Given the description of an element on the screen output the (x, y) to click on. 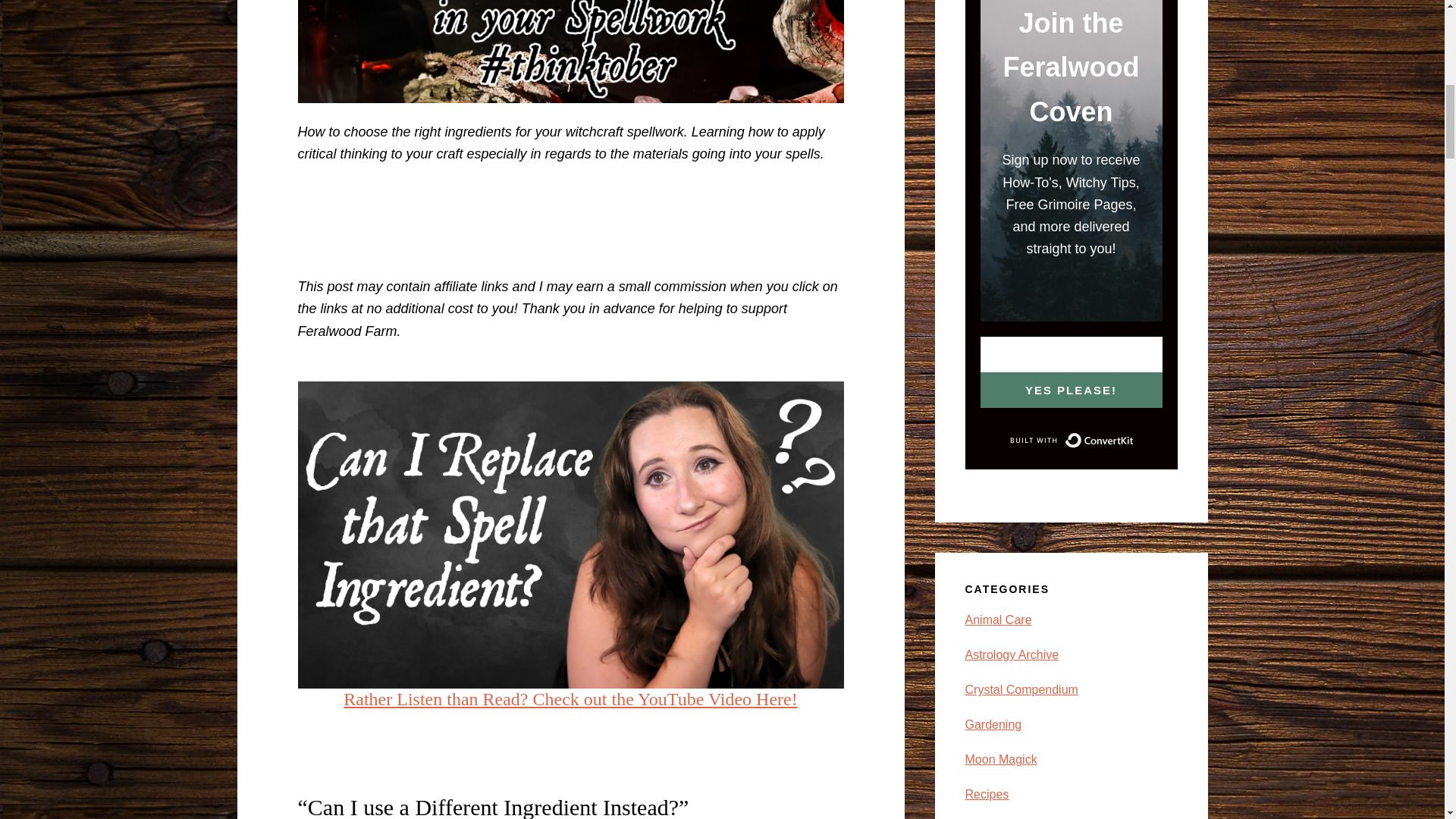
Rather Listen than Read? Check out the YouTube Video Here! (569, 699)
